Given the description of an element on the screen output the (x, y) to click on. 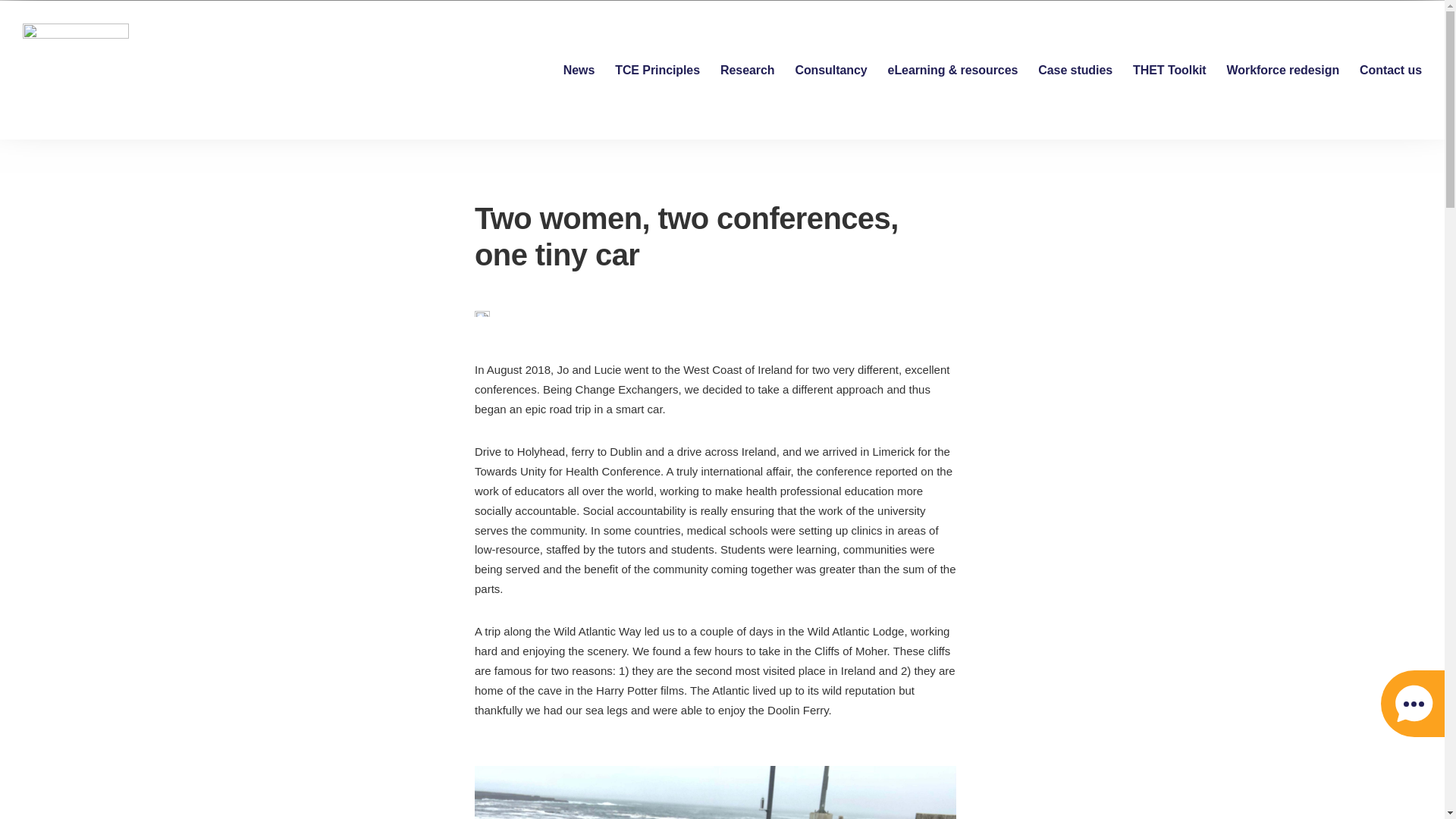
News (578, 70)
THET Toolkit (1169, 70)
TCE Principles (657, 70)
Contact us (1390, 70)
Case studies (1075, 70)
Research (747, 70)
Workforce redesign (1283, 70)
Consultancy (830, 70)
